Given the description of an element on the screen output the (x, y) to click on. 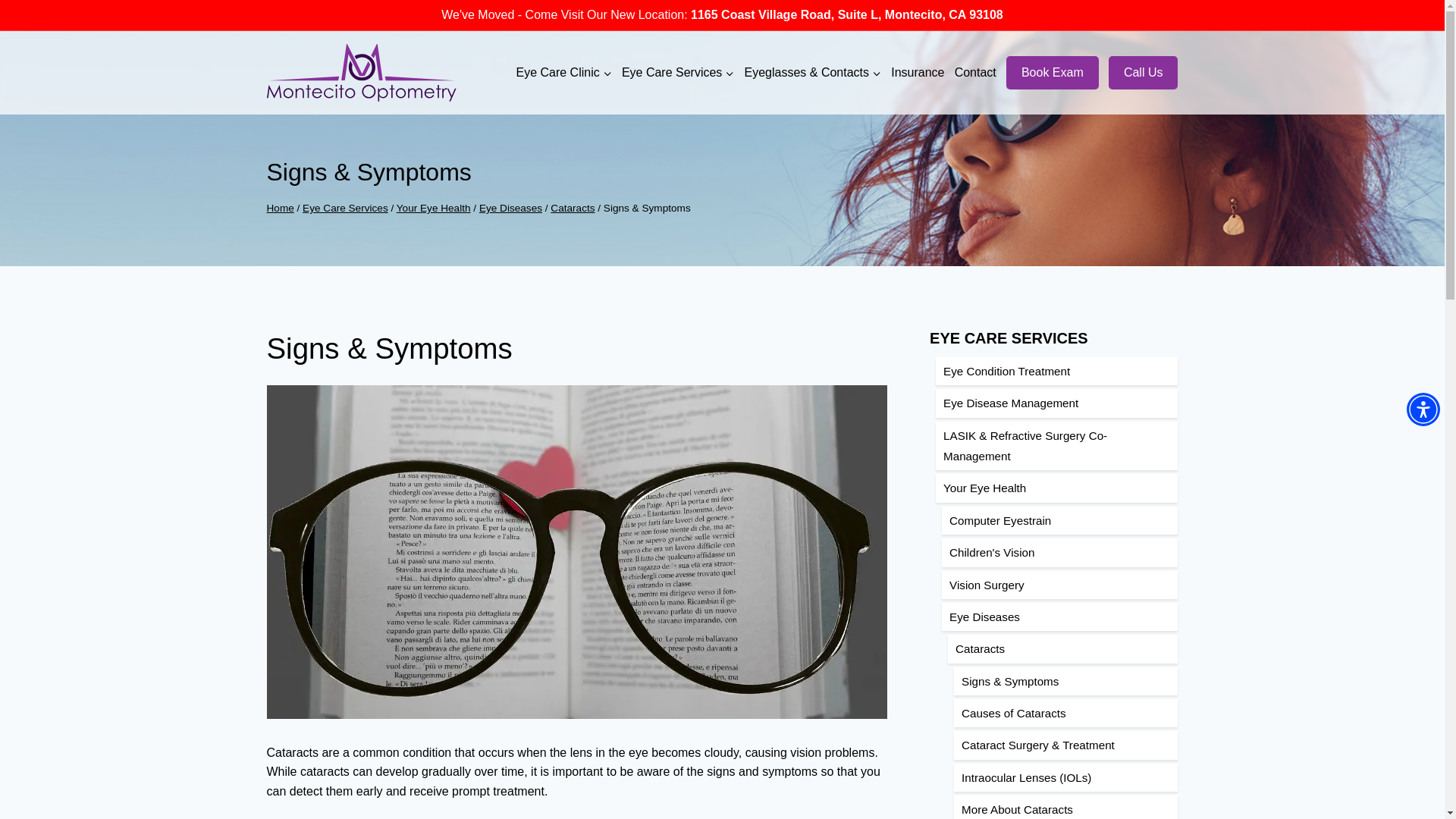
Eye Disease Management (1056, 402)
Computer Eyestrain (1059, 520)
Your Eye Health (433, 207)
Eye Care Services (678, 73)
Your Eye Health (1056, 488)
Insurance (917, 73)
Eye Diseases (510, 207)
Eye Condition Treatment (1056, 370)
Accessibility Menu (1422, 409)
Eye Diseases (1059, 616)
Book Exam (1052, 73)
EYE CARE SERVICES (1008, 338)
Children's Vision (1059, 552)
Vision Surgery (1059, 584)
Call Us (1142, 73)
